Given the description of an element on the screen output the (x, y) to click on. 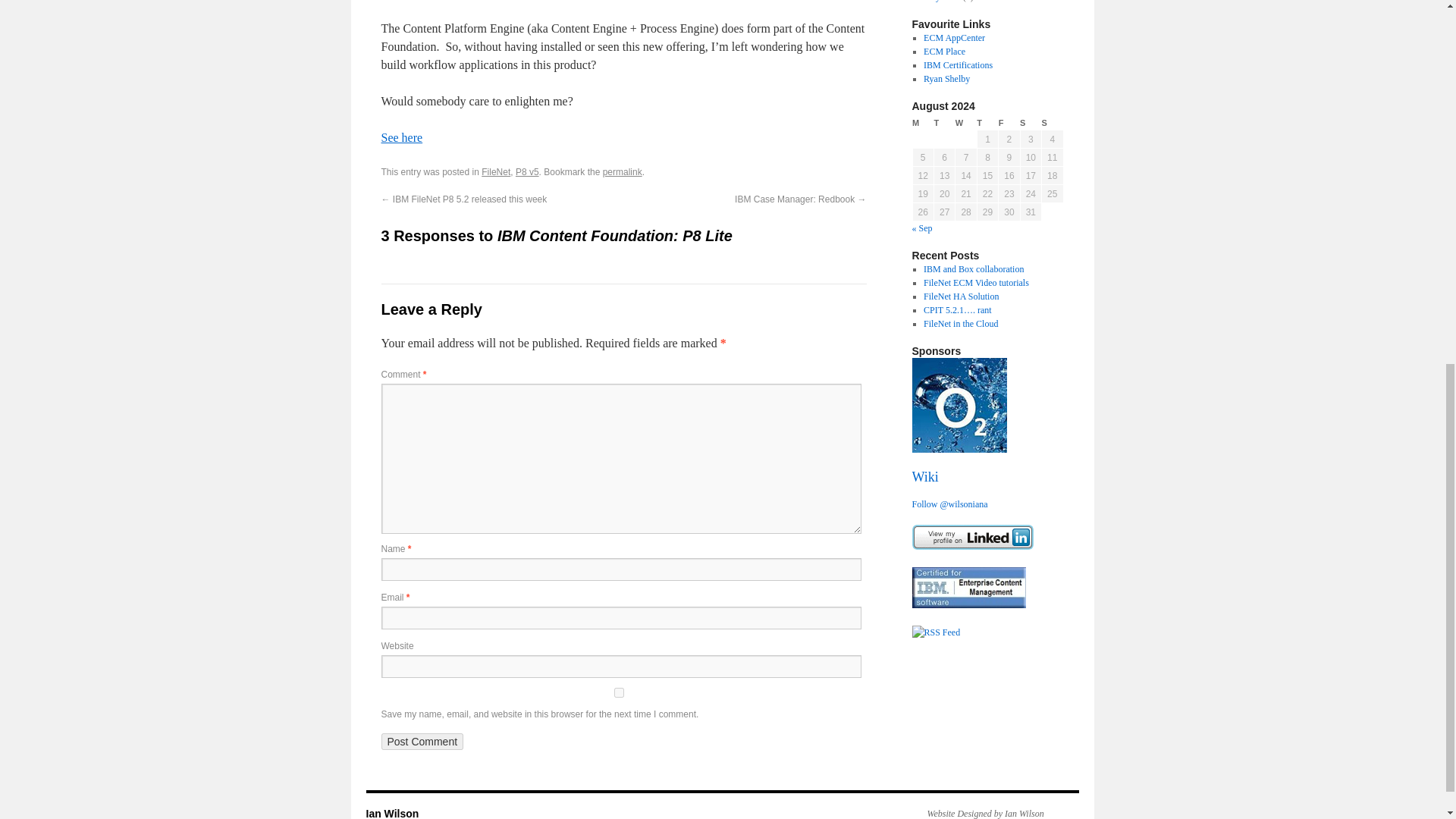
Saturday (1030, 123)
Post Comment (421, 741)
yes (618, 692)
See here (401, 137)
Friday (1009, 123)
Monday (922, 123)
P8 v5 (526, 172)
Permalink to IBM Content Foundation: P8 Lite (622, 172)
Thursday (986, 123)
Sunday (1052, 123)
